Given the description of an element on the screen output the (x, y) to click on. 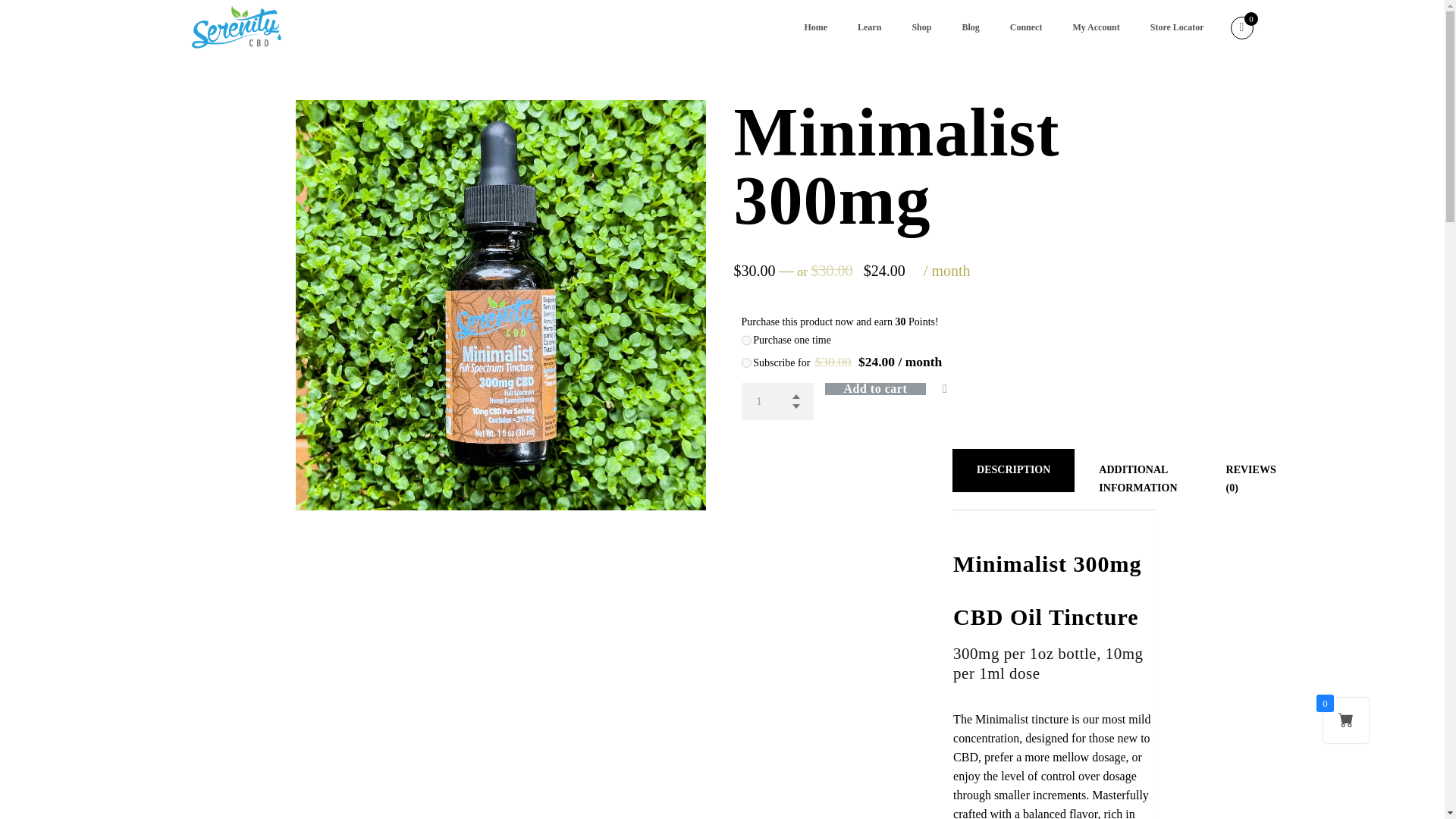
Qty (777, 401)
Serinity logo (235, 26)
Learn (869, 27)
Blog (970, 27)
1 (777, 401)
Add to cart (894, 388)
DESCRIPTION (1013, 469)
Shop (921, 27)
ADDITIONAL INFORMATION (1137, 478)
